Given the description of an element on the screen output the (x, y) to click on. 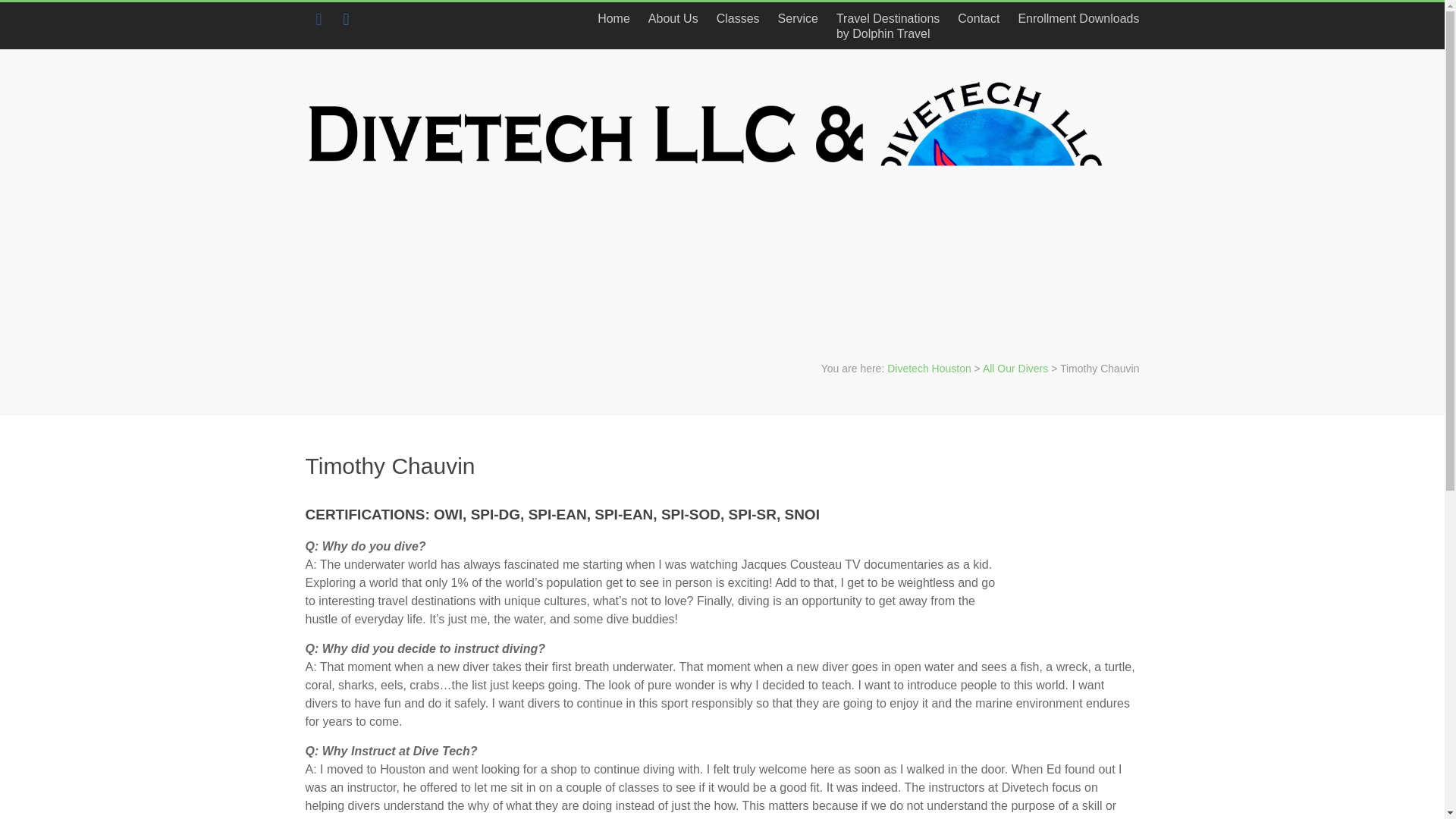
Tim Chauvin (1079, 568)
Go to Divetech Houston. (888, 25)
Divetech Houston (928, 368)
Classes (928, 368)
Enrollment Downloads (737, 18)
Contact (1073, 18)
All Our Divers (979, 18)
About Us (1015, 368)
Home (673, 18)
